Given the description of an element on the screen output the (x, y) to click on. 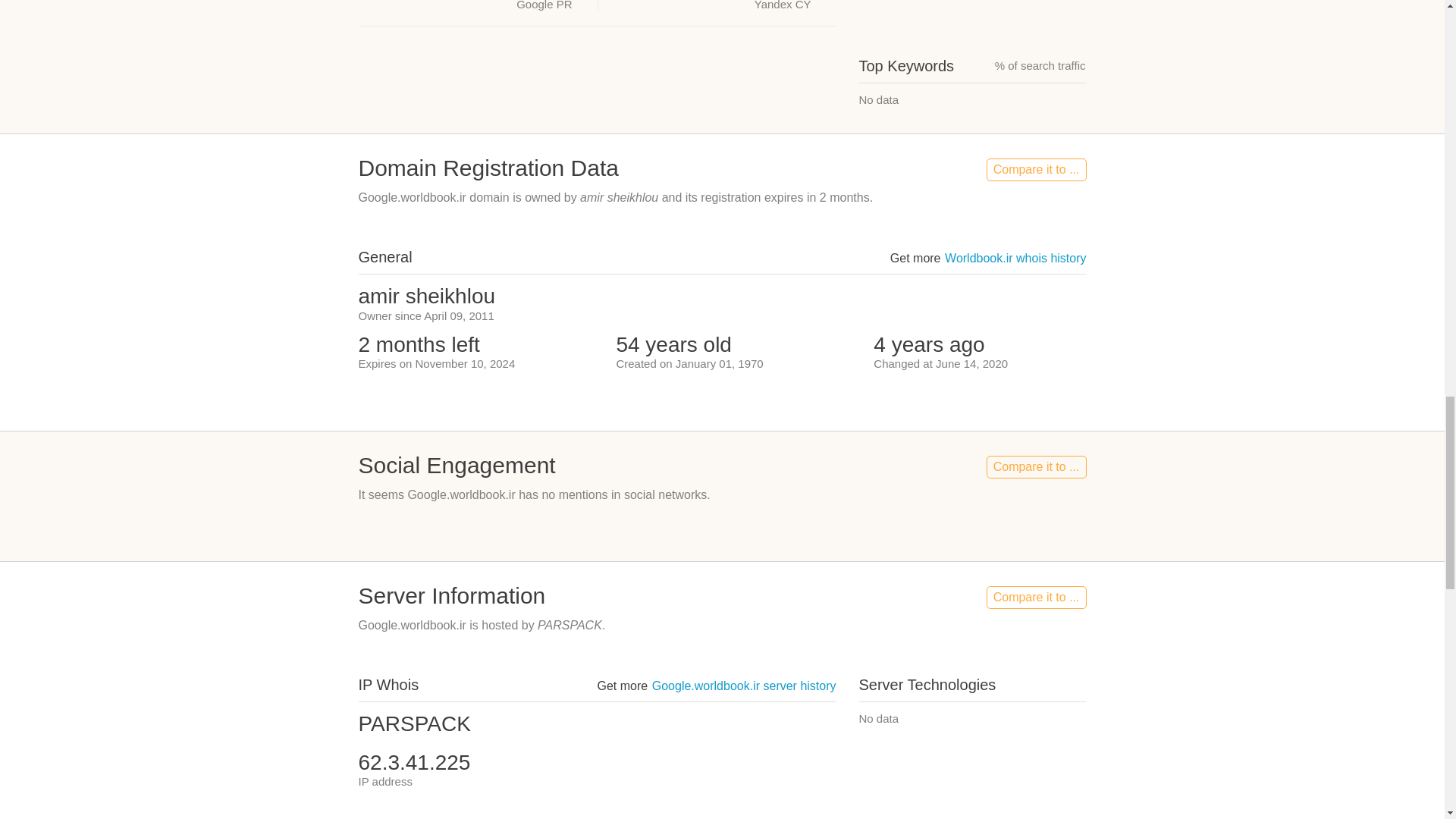
Compare it to ... (1036, 169)
Google.worldbook.ir server history (743, 685)
Worldbook.ir whois history (1015, 257)
Compare it to ... (1036, 597)
Compare it to ... (1036, 466)
